Given the description of an element on the screen output the (x, y) to click on. 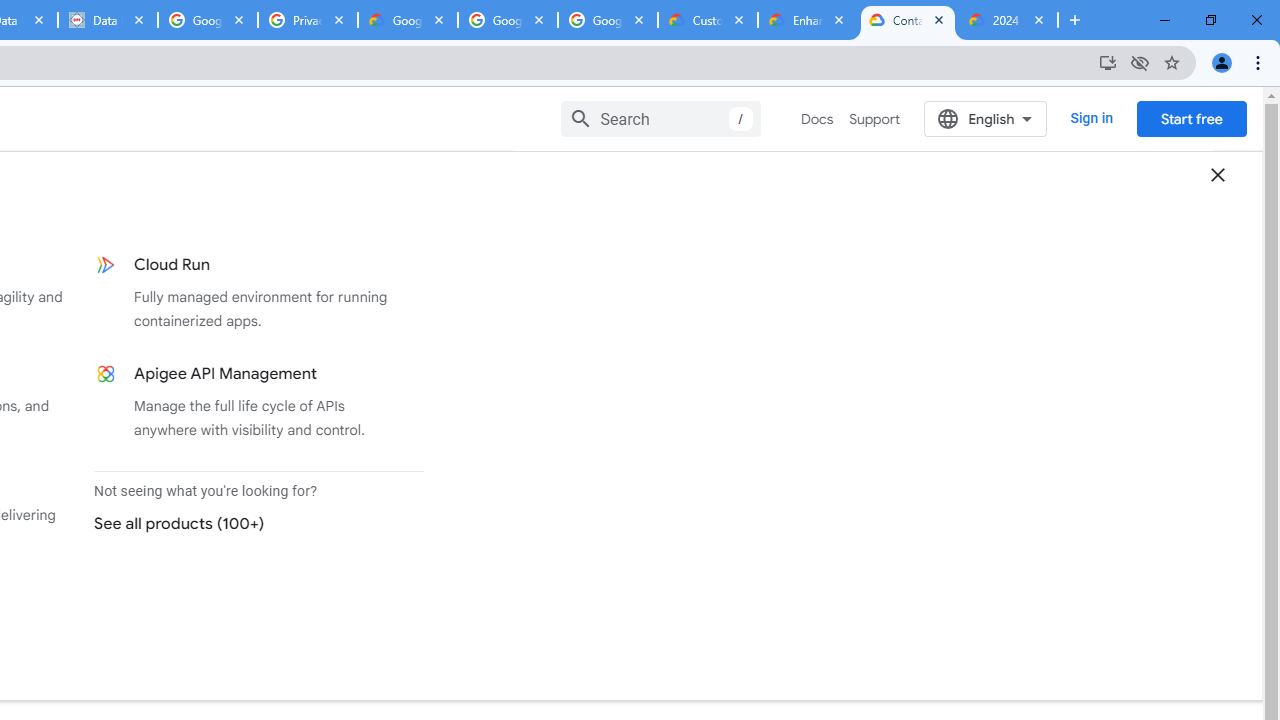
See all products (100+) (250, 523)
Google Workspace - Specific Terms (607, 20)
Close dropdown menu (1217, 174)
Enhanced Support | Google Cloud (807, 20)
Data Privacy Framework (107, 20)
English (985, 118)
